Given the description of an element on the screen output the (x, y) to click on. 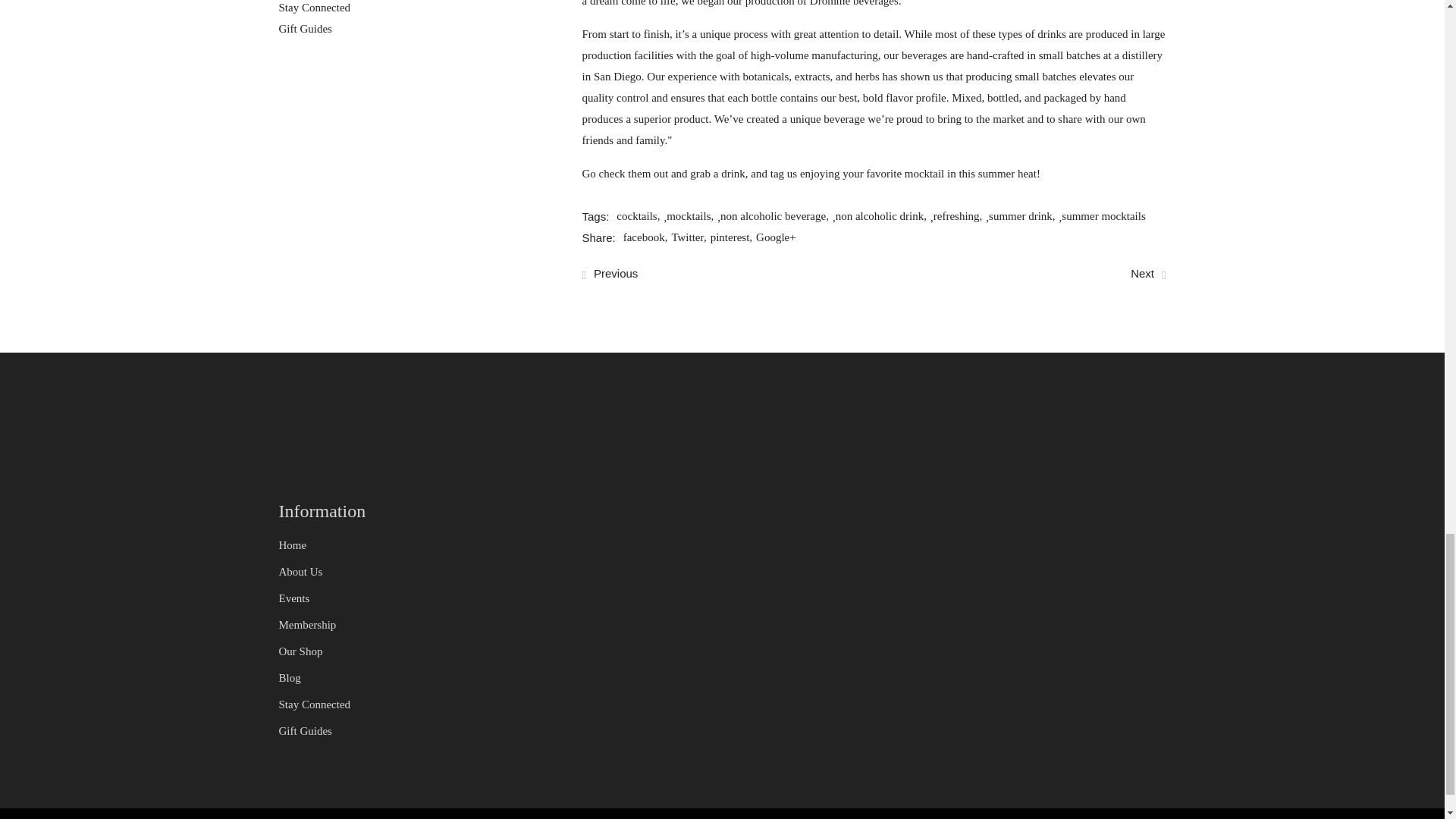
Share on Facebook (647, 237)
Share on Pinterest (732, 237)
Share on Twitter (690, 237)
cocktails (639, 217)
